Given the description of an element on the screen output the (x, y) to click on. 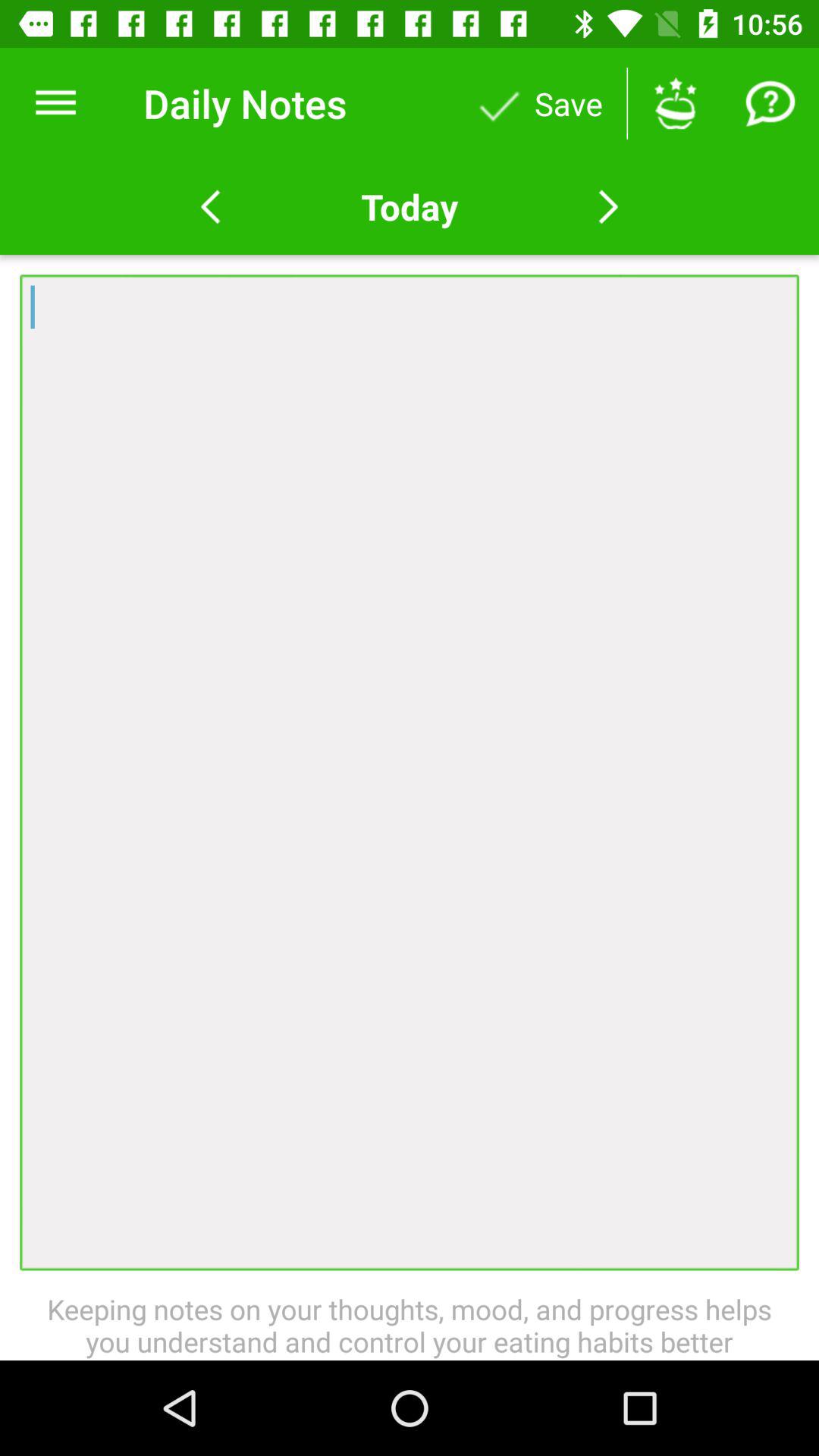
click item below the daily notes (409, 206)
